Given the description of an element on the screen output the (x, y) to click on. 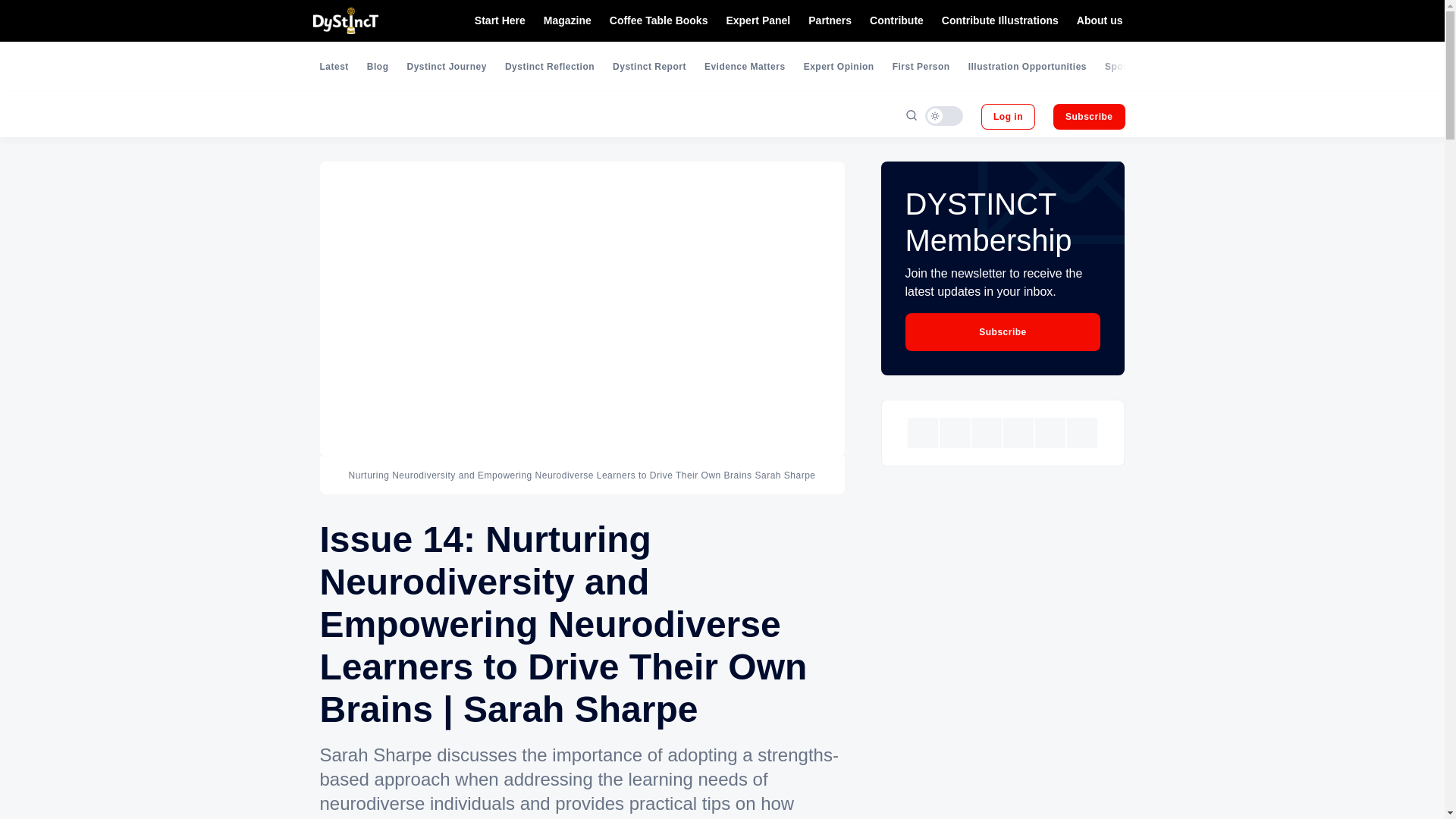
Expert Opinion (839, 66)
First Person (921, 66)
Magazine (566, 20)
Log in (1008, 116)
Dystinct Journey (446, 66)
About us (1099, 20)
Illustration Opportunities (1027, 66)
Coffee Table Books (658, 20)
Subscribe (1088, 116)
Partners (829, 20)
